Given the description of an element on the screen output the (x, y) to click on. 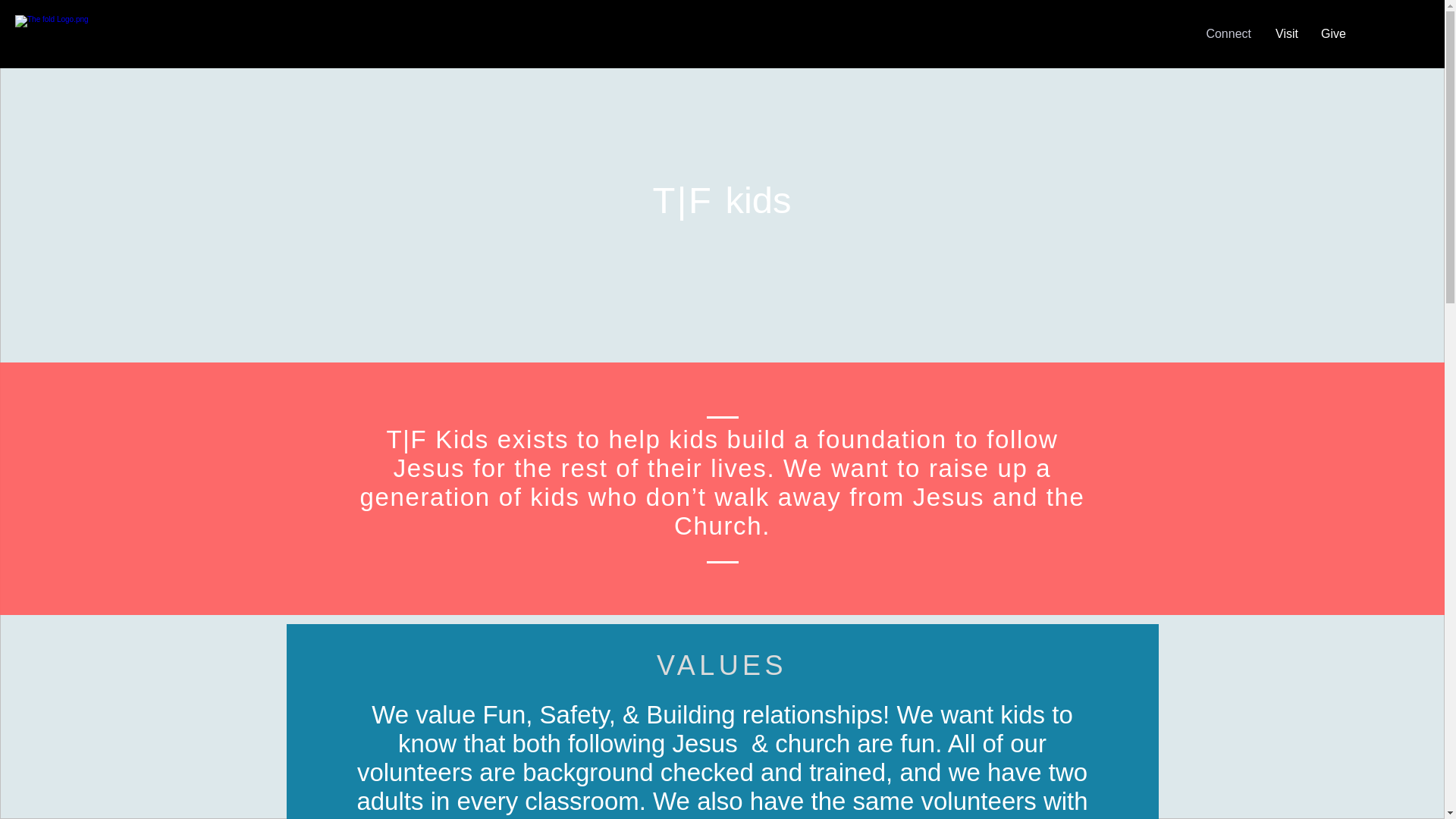
Connect (1227, 34)
Give (1332, 34)
Visit (1285, 34)
